Given the description of an element on the screen output the (x, y) to click on. 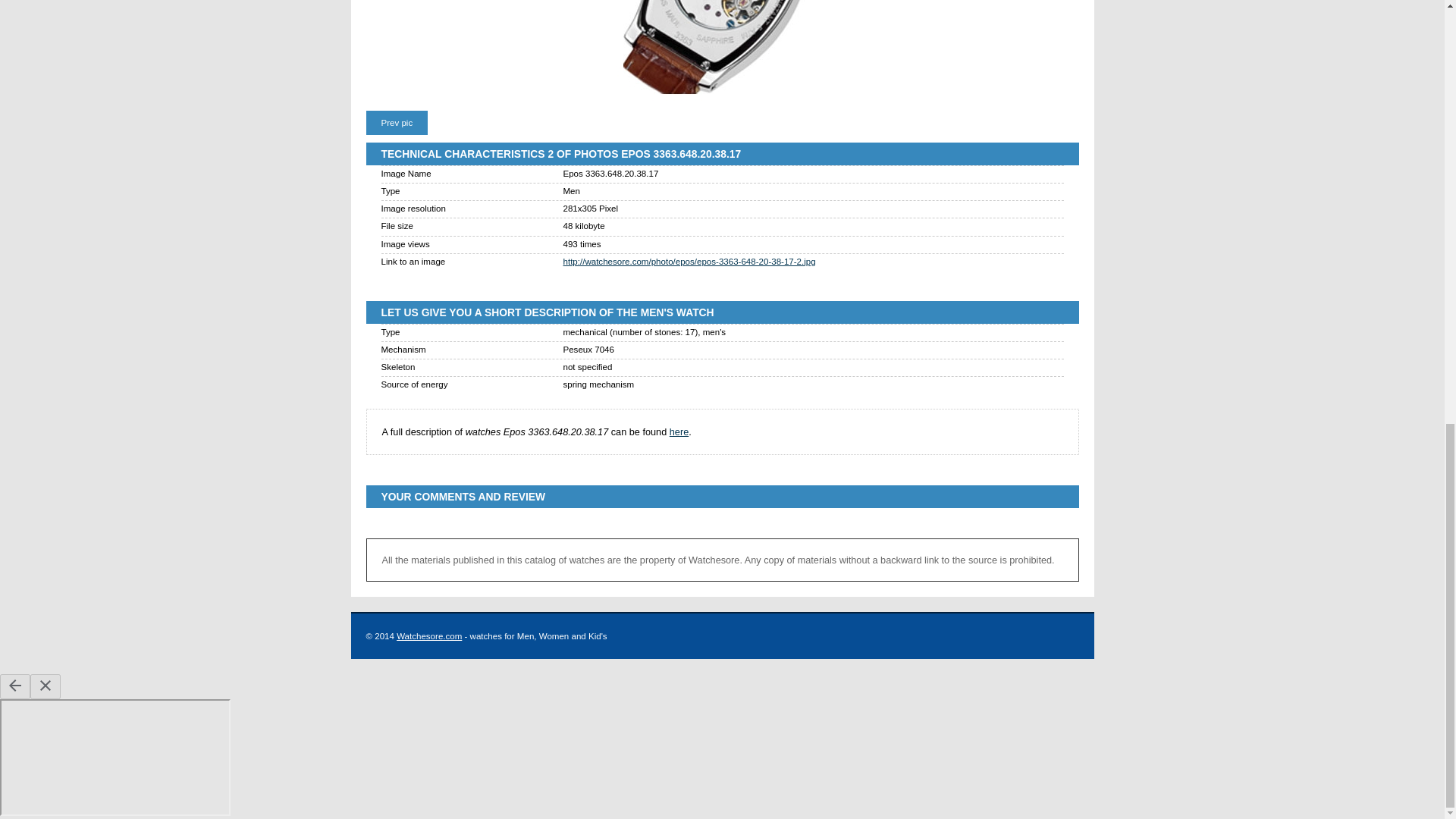
Watchesore.com (428, 635)
Prev pic (396, 122)
here (678, 431)
Epos 3363.648.20.38.17 - 2 picture (721, 50)
